Given the description of an element on the screen output the (x, y) to click on. 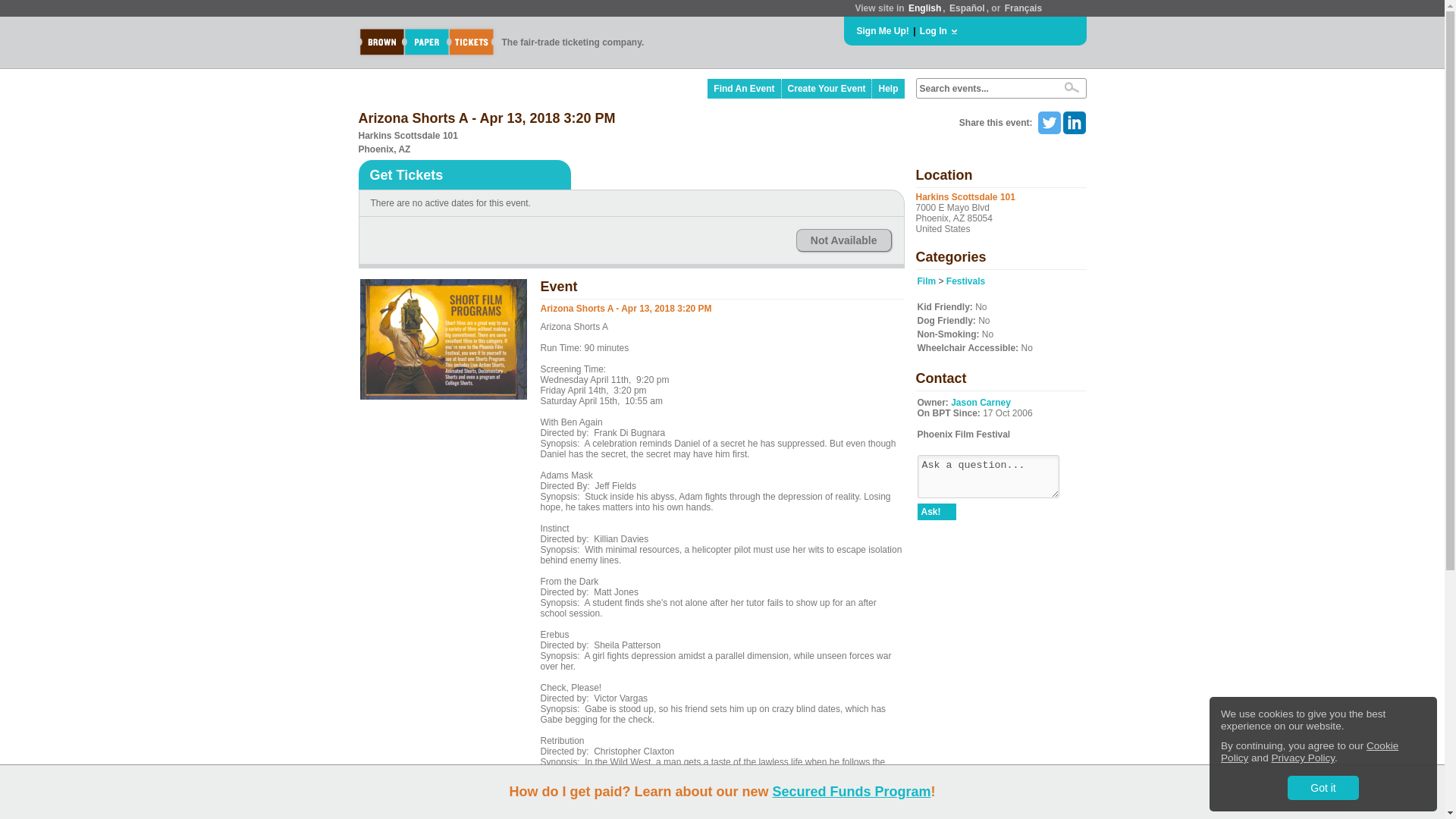
Search Events (1070, 86)
Cookie Policy (1309, 751)
Help (888, 88)
Ask! (936, 511)
Search events... (984, 88)
Jason Carney (980, 402)
Got it (1322, 787)
Film (926, 281)
Log In (933, 30)
Create Your Event (826, 88)
Got it (1322, 787)
Submit to Twitter! (1048, 122)
Privacy Policy (1303, 757)
Sign Me Up! (883, 30)
Not Available (843, 240)
